Given the description of an element on the screen output the (x, y) to click on. 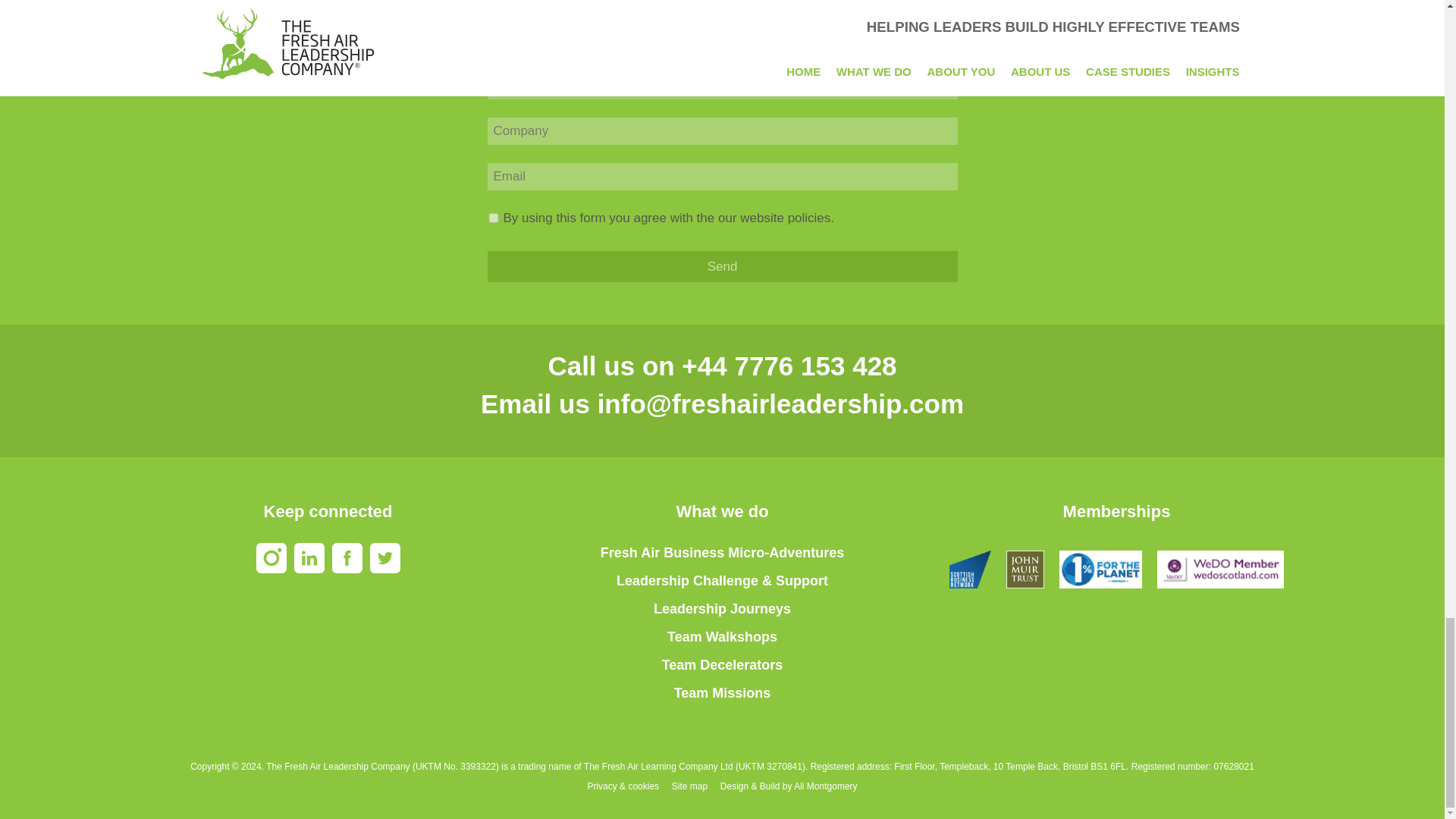
Team Decelerators (722, 664)
Leadership Journeys (721, 608)
Send (721, 265)
Why the Outdoors is Great For Business (492, 8)
Our Newsletter (492, 40)
Send (721, 265)
Team Walkshops (721, 636)
Fresh Air Business Micro-Adventures (721, 552)
Team Missions (722, 693)
1 (492, 217)
